Given the description of an element on the screen output the (x, y) to click on. 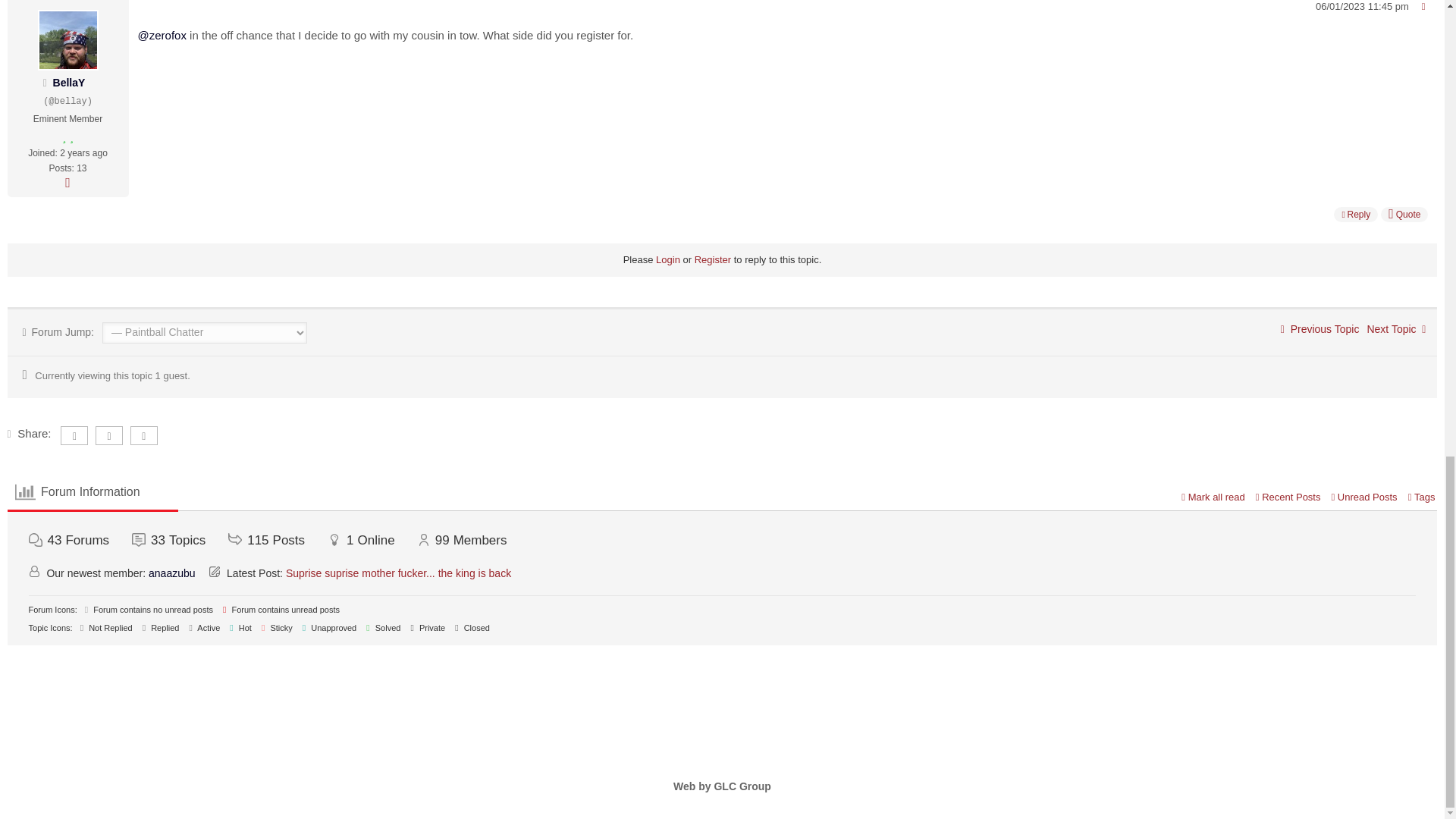
Register (712, 259)
  Previous Topic (1320, 328)
Next Topic   (1396, 328)
BellaY (68, 82)
Login (667, 259)
